Given the description of an element on the screen output the (x, y) to click on. 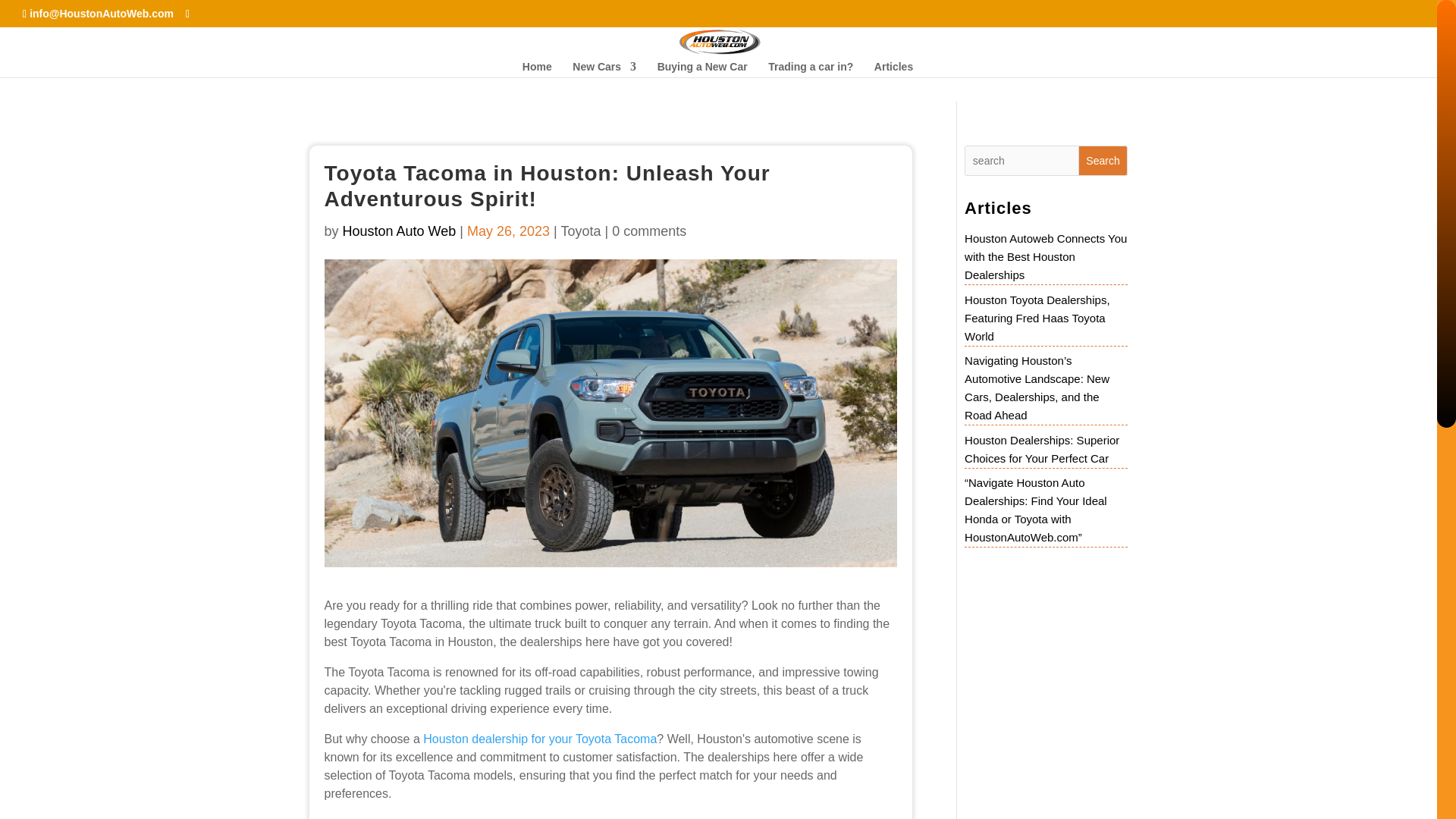
Posts by Houston Auto Web (399, 231)
Houston Toyota Dealerships, Featuring Fred Haas Toyota World (1036, 318)
Toyota (579, 231)
Buying a New Car (703, 68)
Houston Auto Web (399, 231)
0 comments (648, 231)
Houston Dealerships: Superior Choices for Your Perfect Car (1041, 449)
Articles (893, 68)
New Cars (604, 68)
